Given the description of an element on the screen output the (x, y) to click on. 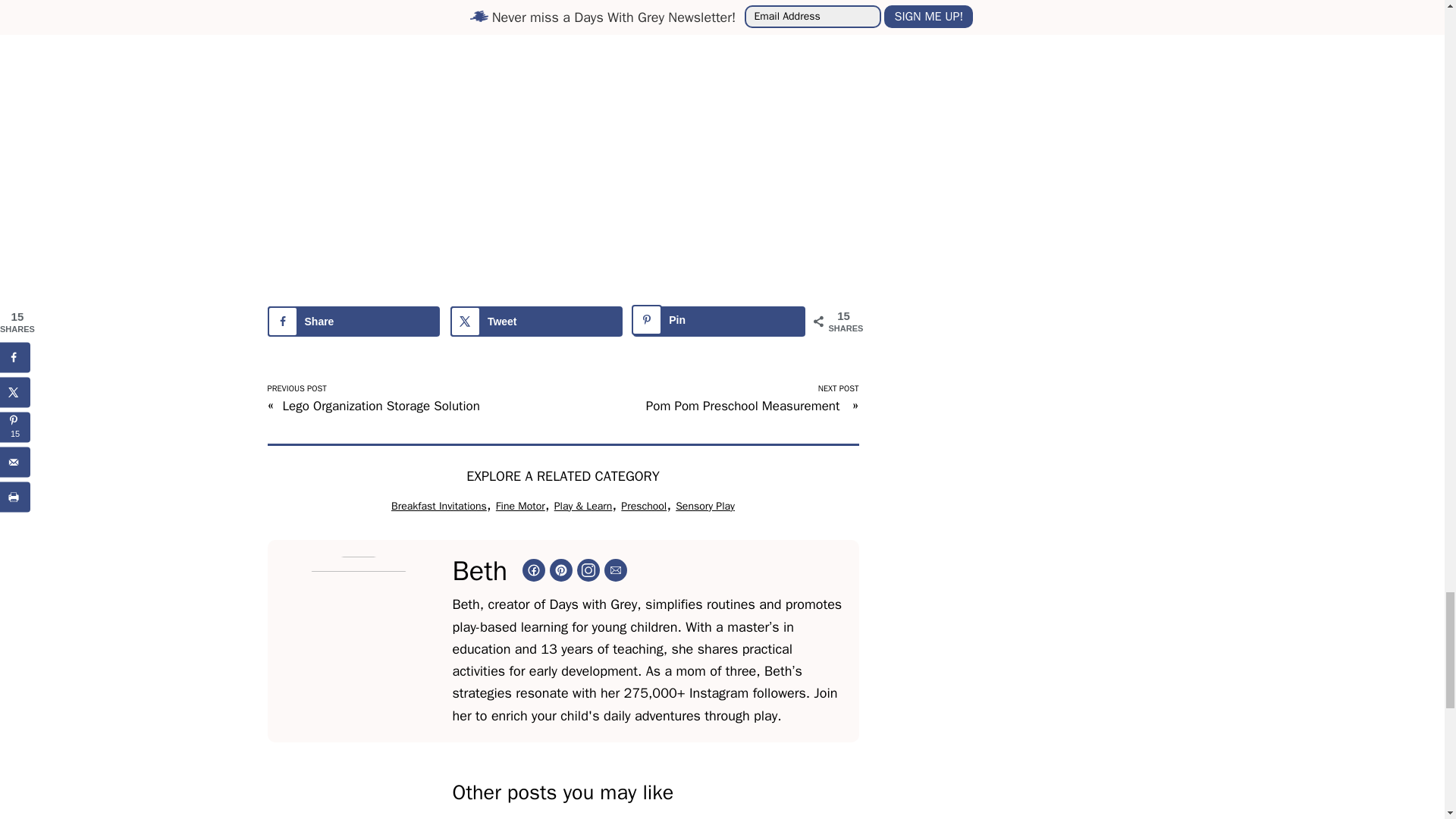
Save to Pinterest (719, 321)
Share on X (536, 321)
Share on Facebook (352, 321)
